Given the description of an element on the screen output the (x, y) to click on. 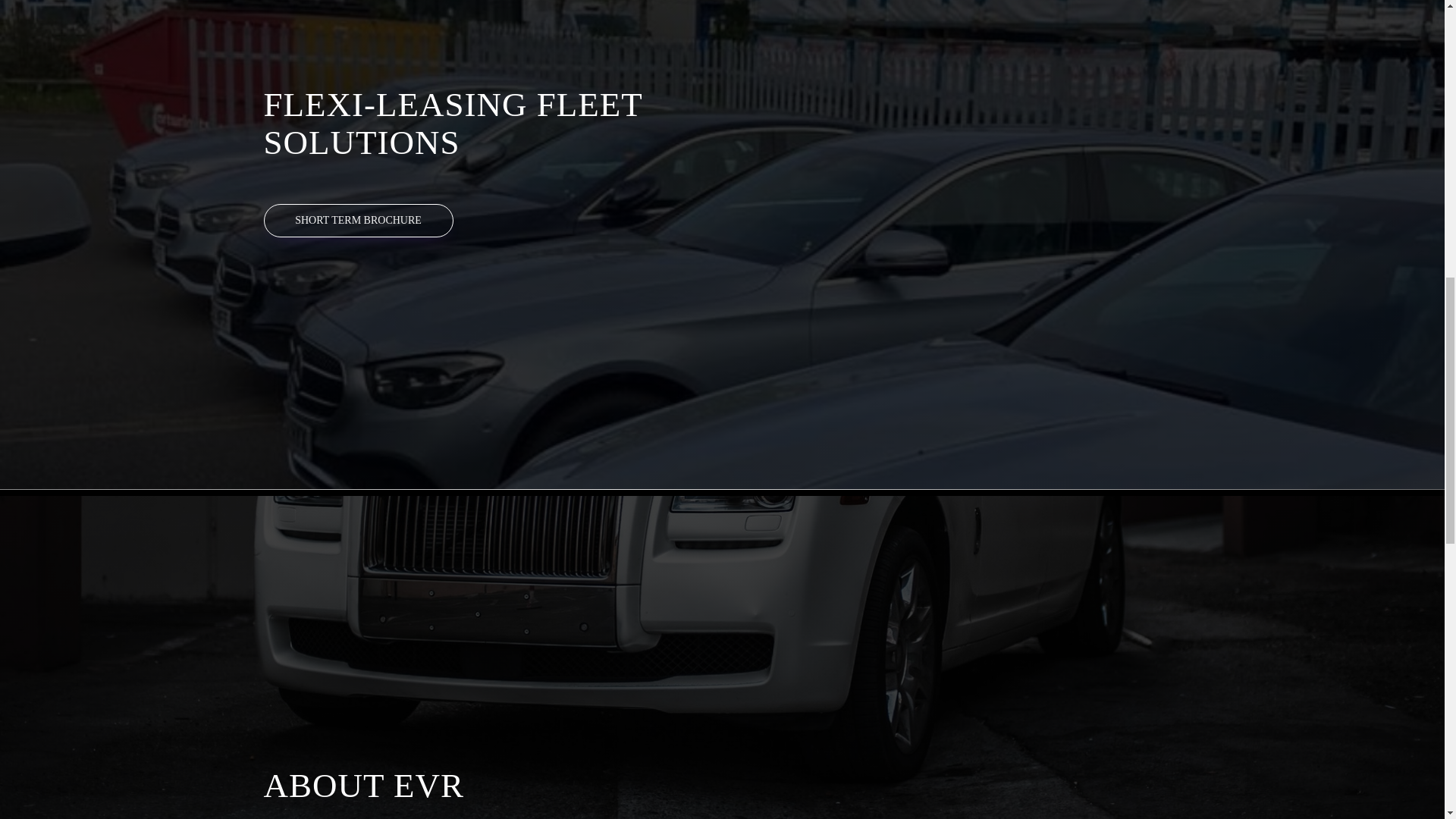
SHORT TERM BROCHURE (357, 220)
